Given the description of an element on the screen output the (x, y) to click on. 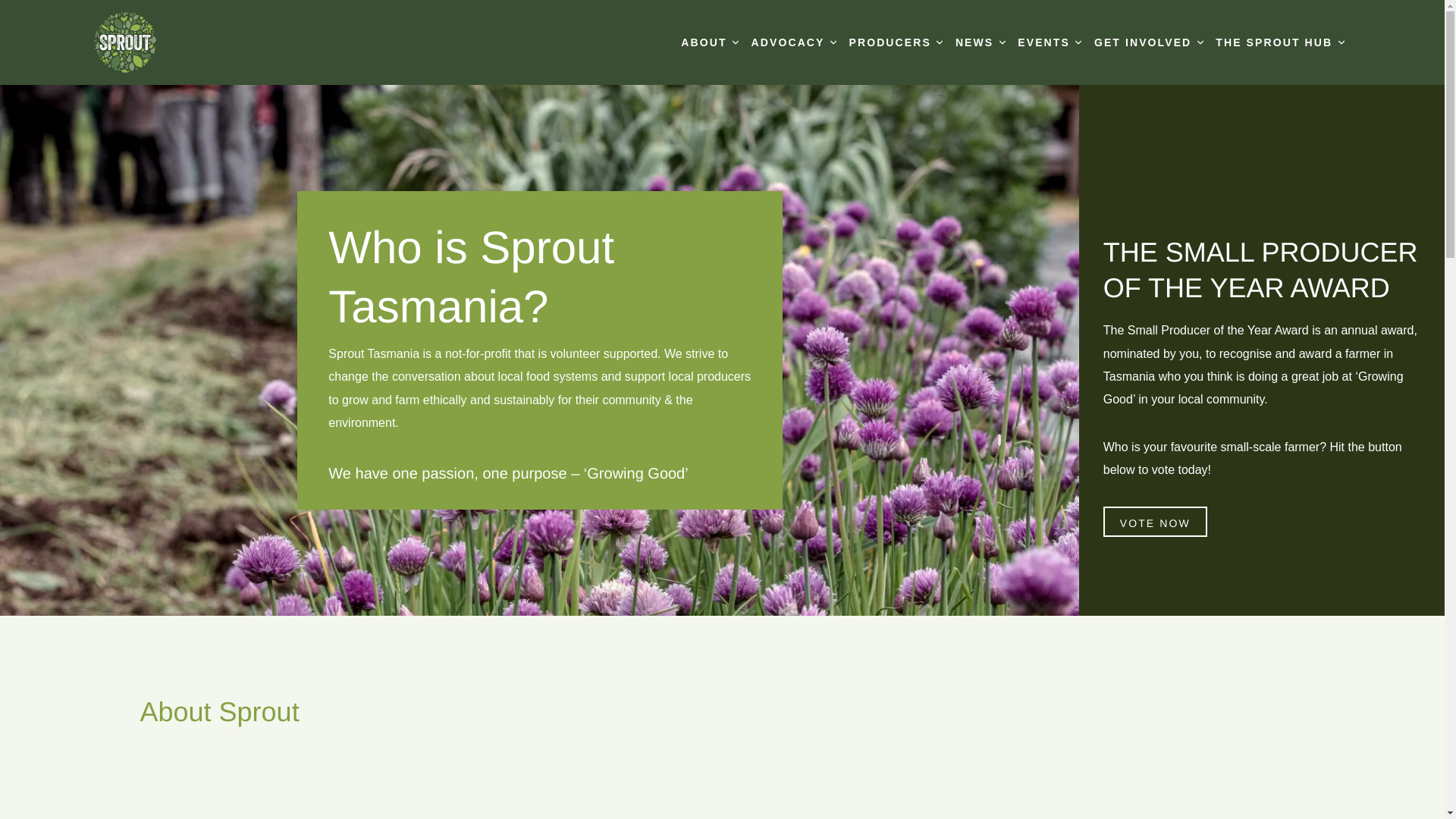
ABOUT Element type: text (709, 42)
GET INVOLVED Element type: text (1148, 42)
EVENTS Element type: text (1049, 42)
ADVOCACY Element type: text (794, 42)
PRODUCERS Element type: text (896, 42)
THE SPROUT HUB Element type: text (1279, 42)
VOTE NOW Element type: text (1155, 521)
NEWS Element type: text (980, 42)
